Given the description of an element on the screen output the (x, y) to click on. 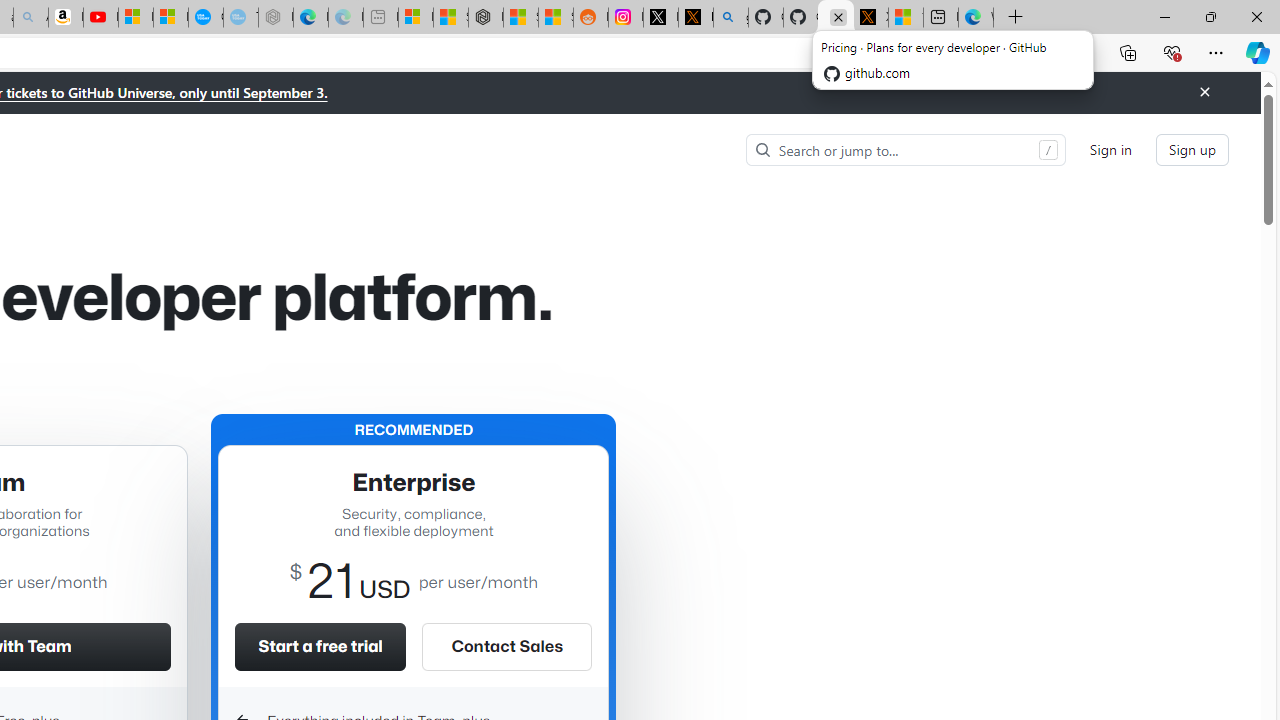
Welcome to Microsoft Edge (975, 17)
Nordace - Duffels (485, 17)
Nordace - Nordace has arrived Hong Kong - Sleeping (275, 17)
Sign in (1110, 149)
